Given the description of an element on the screen output the (x, y) to click on. 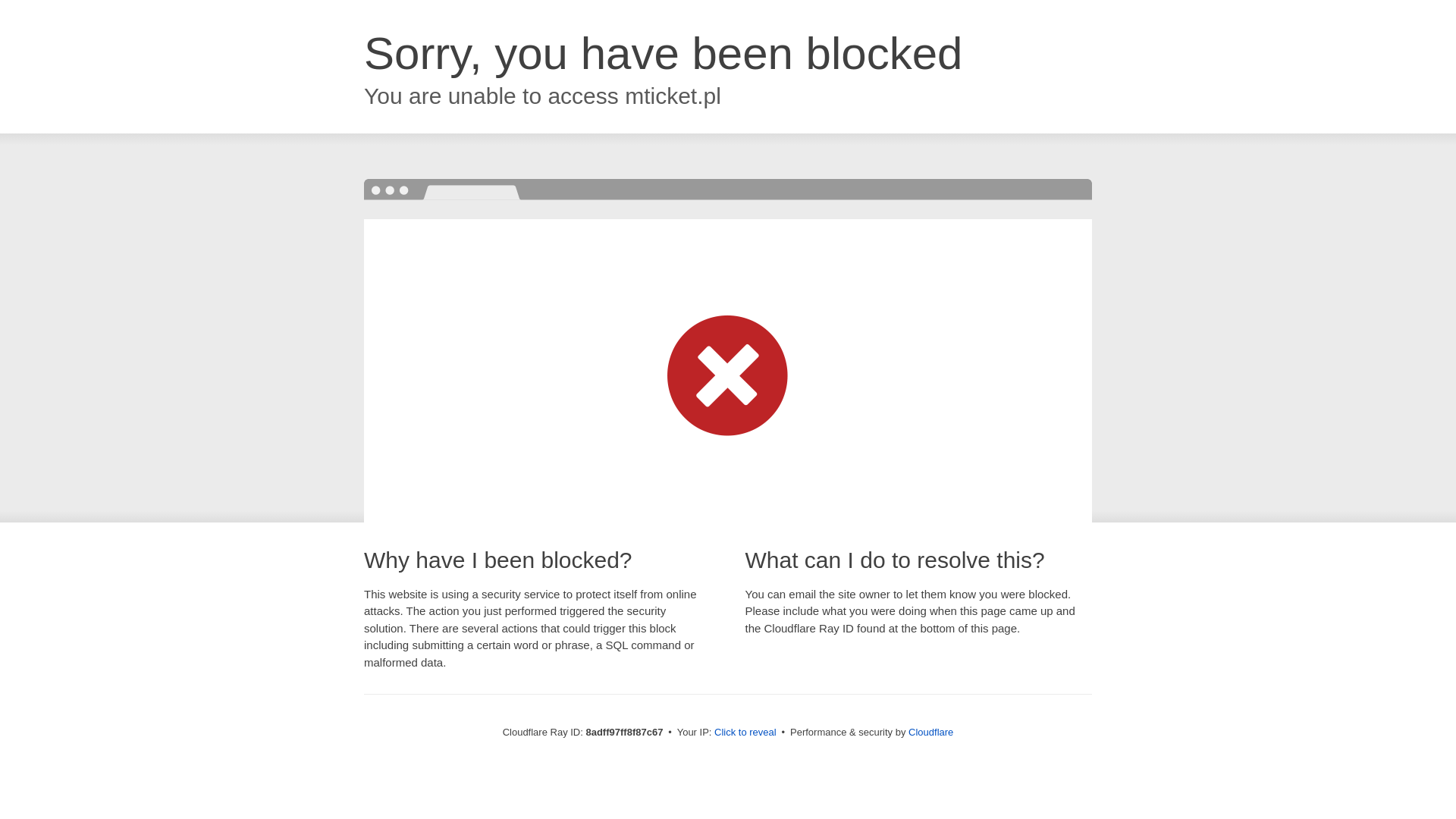
Click to reveal (745, 732)
Cloudflare (930, 731)
